Given the description of an element on the screen output the (x, y) to click on. 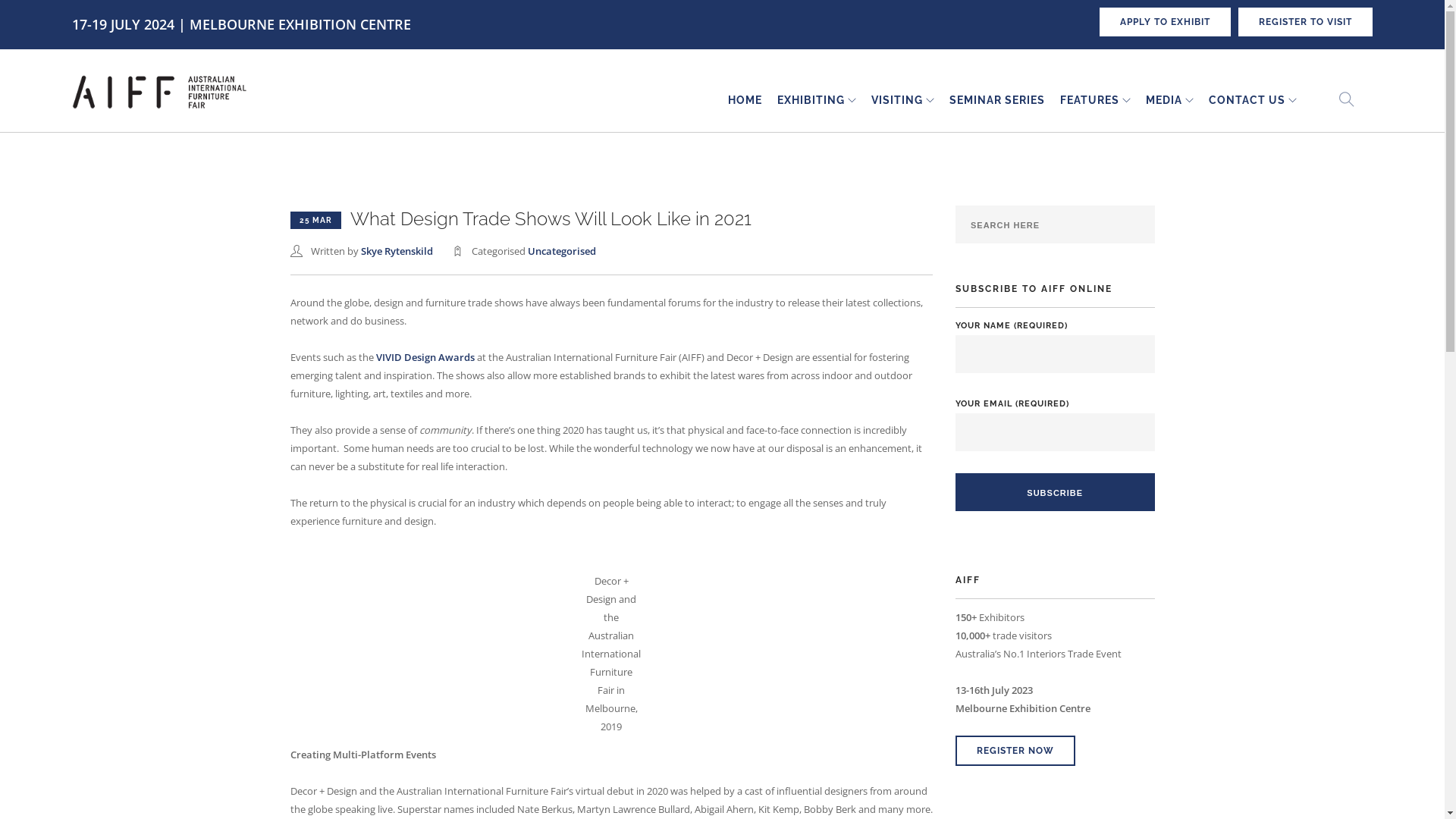
HOME Element type: text (745, 100)
REGISTER NOW Element type: text (1015, 750)
Subscribe Element type: text (1054, 492)
EXHIBITING Element type: text (810, 100)
VIVID Design Awards Element type: text (425, 357)
REGISTER TO VISIT Element type: text (1305, 21)
Uncategorised Element type: text (561, 250)
APPLY TO EXHIBIT Element type: text (1164, 21)
VISITING Element type: text (896, 100)
Skye Rytenskild Element type: text (396, 250)
MEDIA Element type: text (1163, 100)
FEATURES Element type: text (1089, 100)
CONTACT US Element type: text (1246, 100)
SEMINAR SERIES Element type: text (996, 100)
25 MARWhat Design Trade Shows Will Look Like in 2021 Element type: text (519, 219)
